Given the description of an element on the screen output the (x, y) to click on. 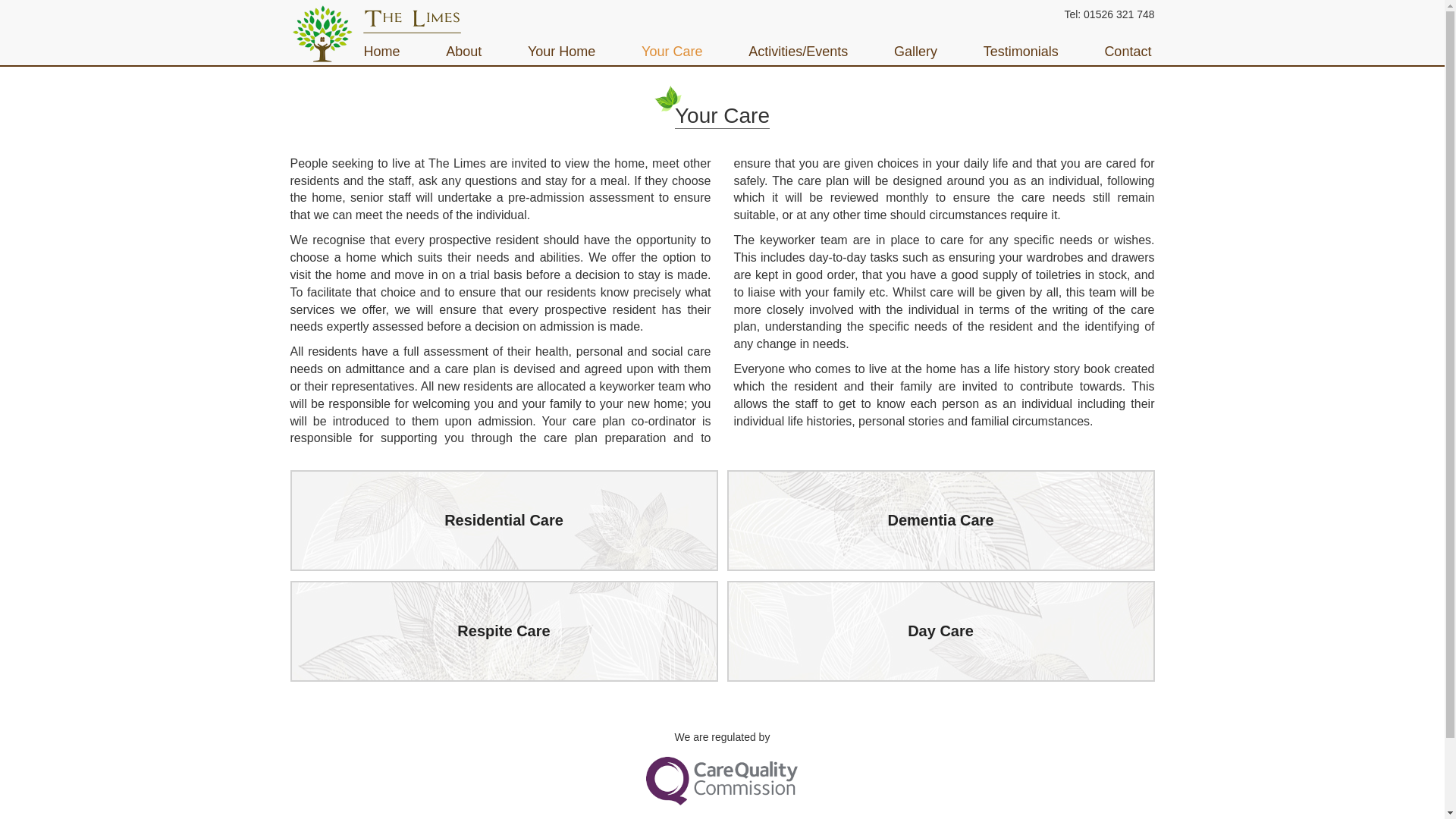
Contact (1127, 51)
Respite Care (503, 630)
About (463, 51)
Testimonials (1020, 51)
Your Care (671, 51)
Gallery (915, 51)
Home (384, 51)
Your Care (671, 51)
Contact (1127, 51)
Gallery (915, 51)
Care Quality Commission (721, 779)
Residential Care (503, 520)
Dementia Care (940, 520)
About (463, 51)
Your Home (560, 51)
